Given the description of an element on the screen output the (x, y) to click on. 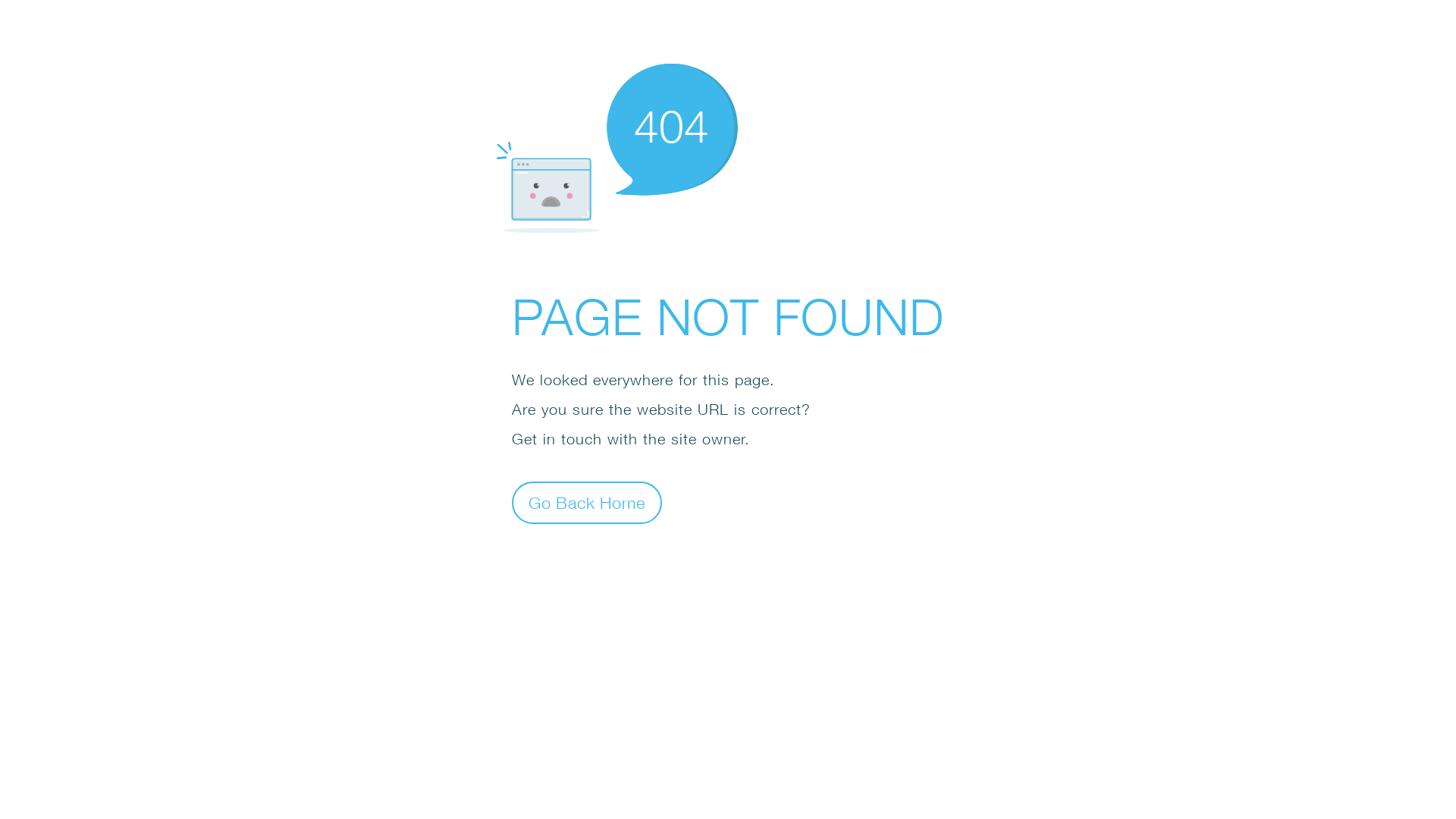
Go Back Home Element type: text (586, 502)
